Given the description of an element on the screen output the (x, y) to click on. 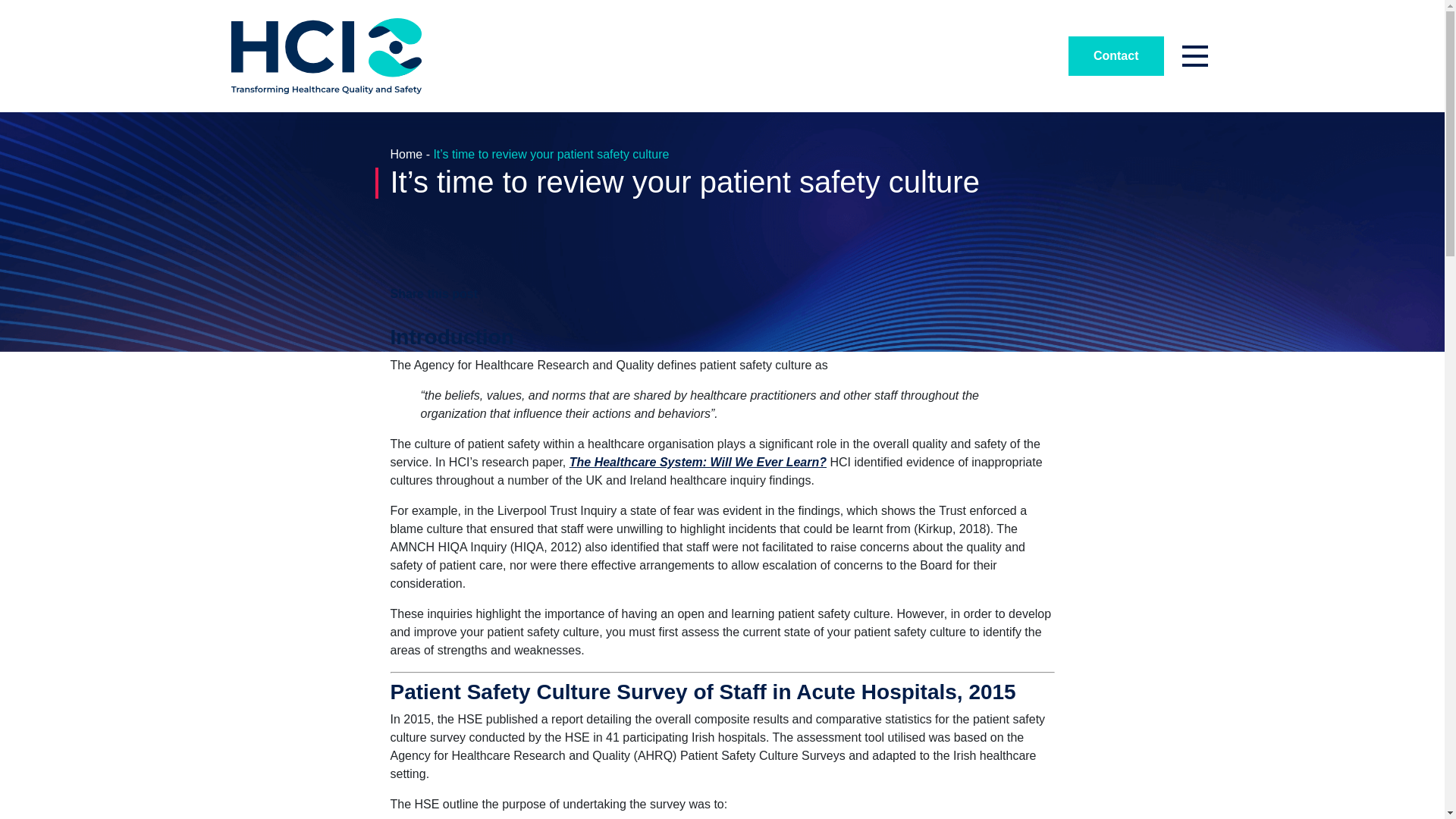
Contact (1115, 56)
